Given the description of an element on the screen output the (x, y) to click on. 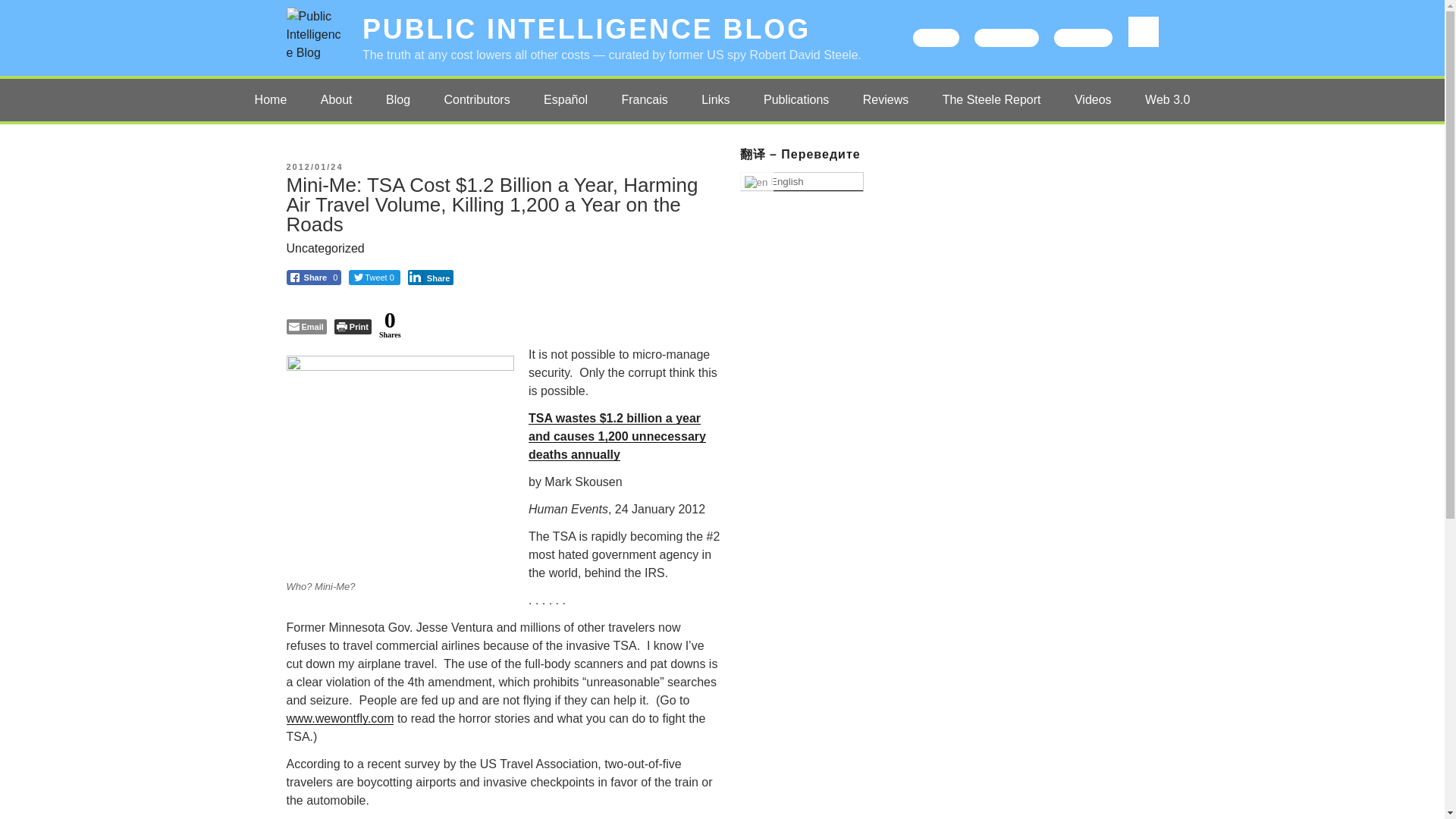
Uncategorized (325, 247)
Share 0 (314, 277)
Print (352, 326)
English (801, 181)
About (336, 99)
Twitter (935, 37)
www.wewontfly.com (340, 717)
Reviews (885, 99)
Tweet 0 (374, 277)
Contributors (477, 99)
YouTube (1083, 37)
Share (430, 277)
PUBLIC INTELLIGENCE BLOG (586, 29)
Links (714, 99)
